Given the description of an element on the screen output the (x, y) to click on. 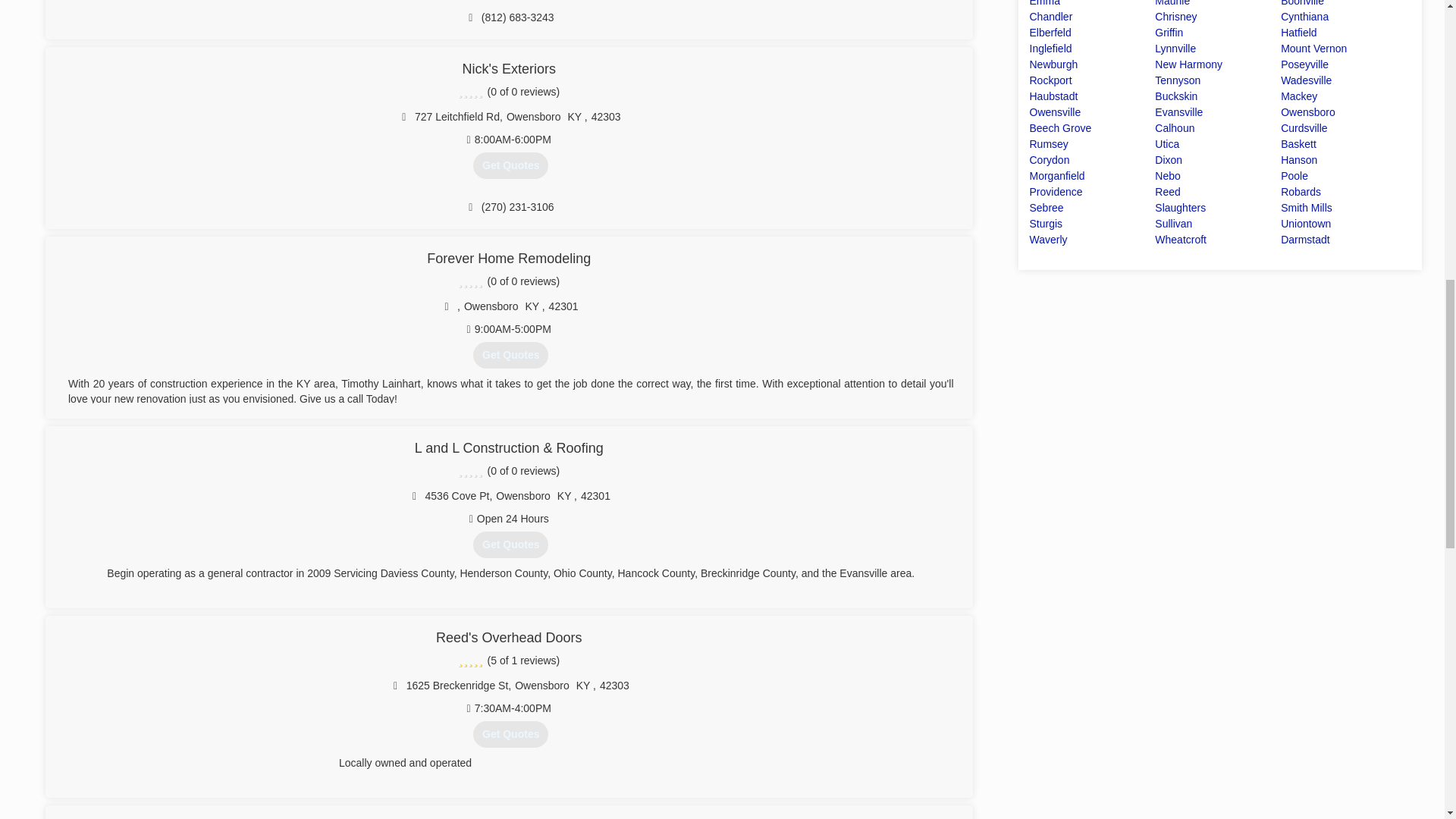
Lynnville (1174, 48)
Elberfeld (1050, 32)
Cynthiana (1304, 16)
Get Quotes (510, 165)
Mount Vernon (1313, 48)
Tennyson (1176, 80)
Get Quotes (510, 733)
Griffin (1168, 32)
Get Quotes (510, 544)
Boonville (1302, 3)
